Given the description of an element on the screen output the (x, y) to click on. 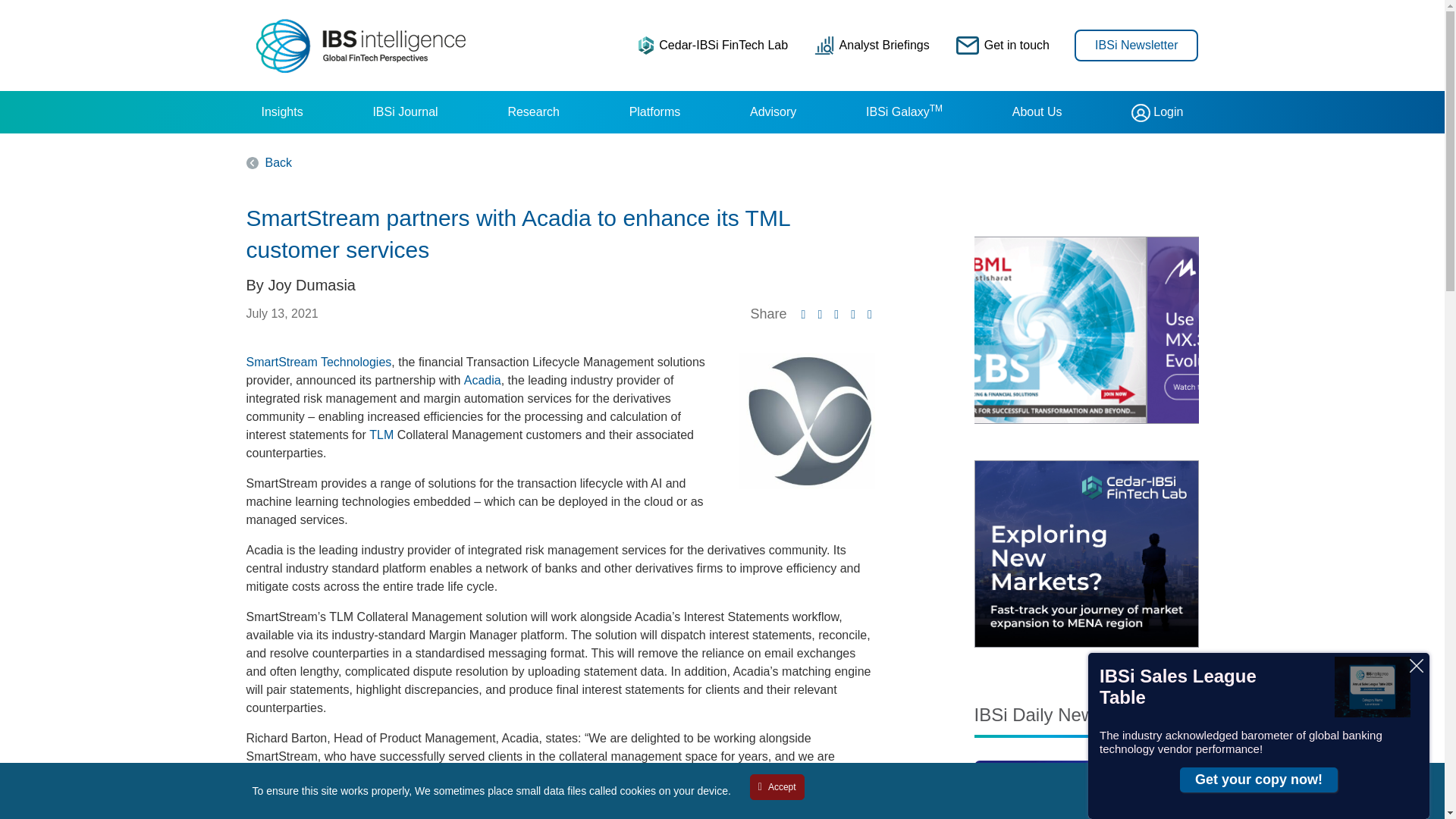
IBSi Newsletter (1136, 44)
Facebook (819, 314)
Insights (281, 111)
Get in touch (1002, 45)
Analyst Briefings (871, 45)
IBSi Journal (404, 111)
WhatsApp (869, 314)
Research (532, 111)
Twitter (836, 314)
LinkedIn (803, 314)
Email (853, 314)
Cedar-IBSi FinTech Lab (712, 45)
